Given the description of an element on the screen output the (x, y) to click on. 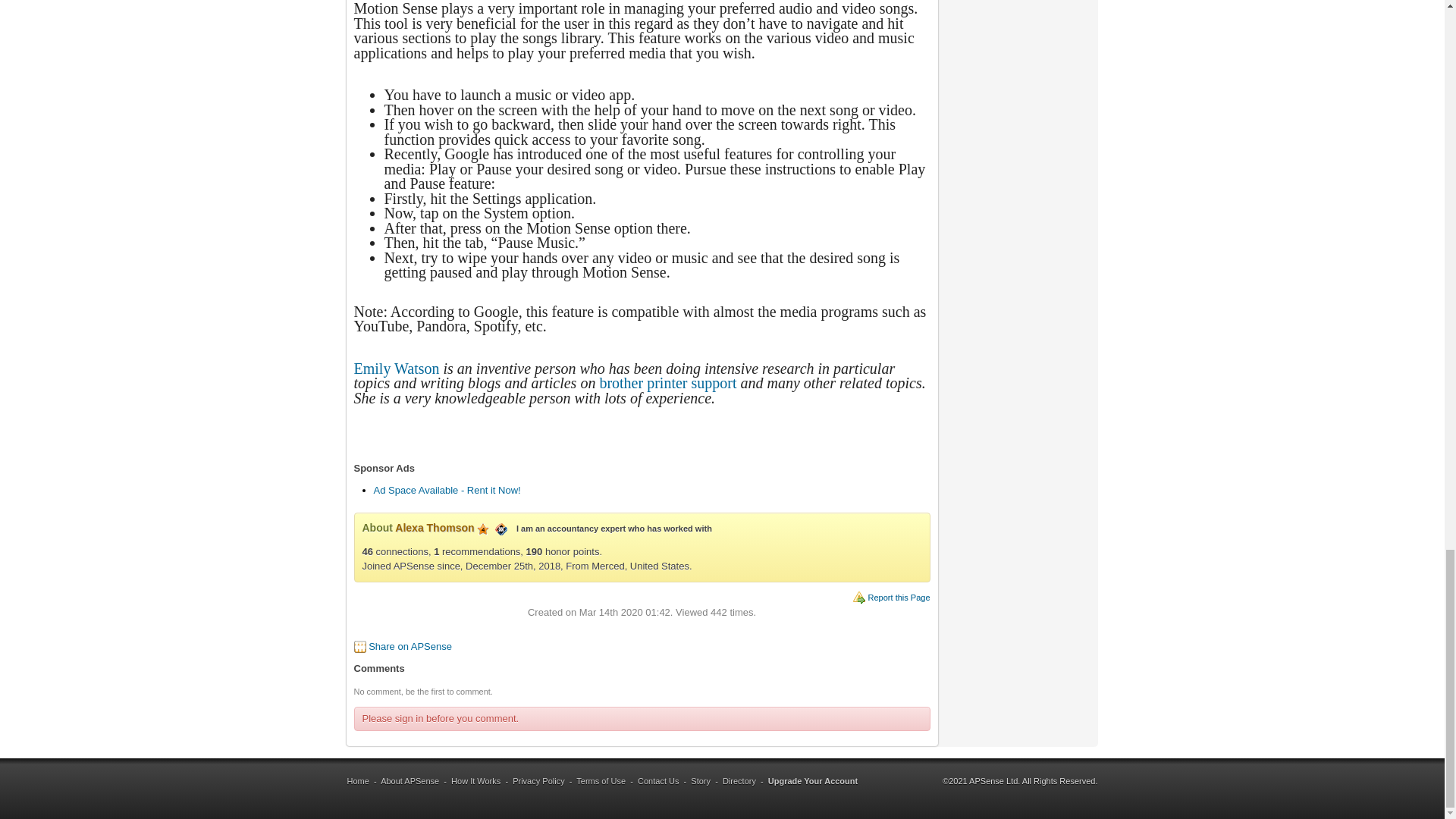
Share on APSense (409, 645)
brother printer support (667, 382)
Alexa Thomson (434, 527)
View Business Center (500, 527)
Advanced (483, 529)
Share on APSense (409, 645)
Ad Space Available - Rent it Now! (445, 490)
Report this Page (898, 596)
Emily Watson (396, 368)
